Given the description of an element on the screen output the (x, y) to click on. 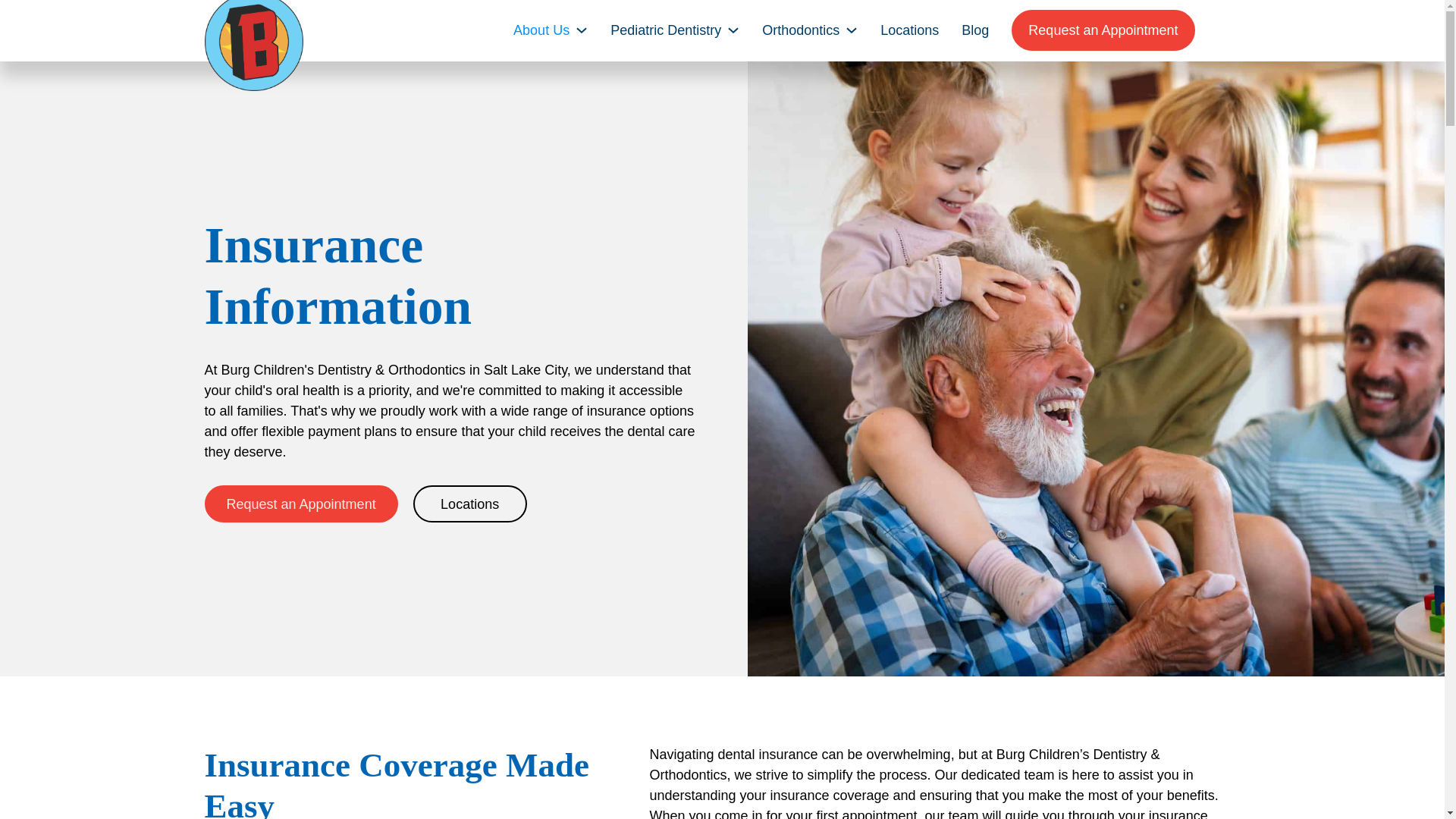
About Us (541, 29)
Orthodontics (800, 29)
Blog (974, 29)
Locations (909, 29)
Pediatric Dentistry (665, 29)
Request an Appointment (1102, 30)
